Given the description of an element on the screen output the (x, y) to click on. 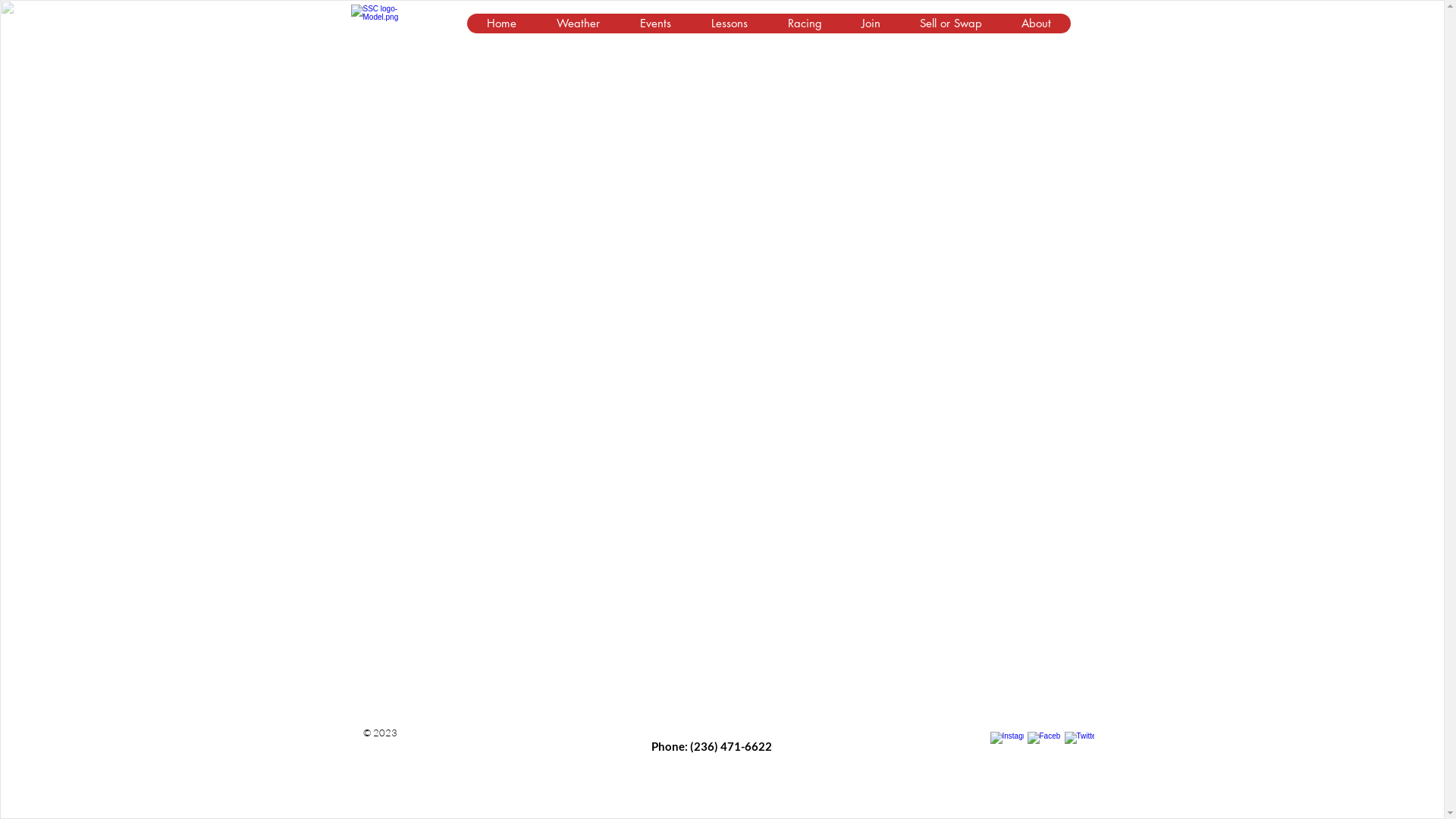
Weather Element type: text (576, 23)
SSCLogo_4C.png Element type: hover (385, 23)
Events Element type: text (654, 23)
Home Element type: text (501, 23)
Sell or Swap Element type: text (950, 23)
(236) 471-6622 Element type: text (730, 746)
